Given the description of an element on the screen output the (x, y) to click on. 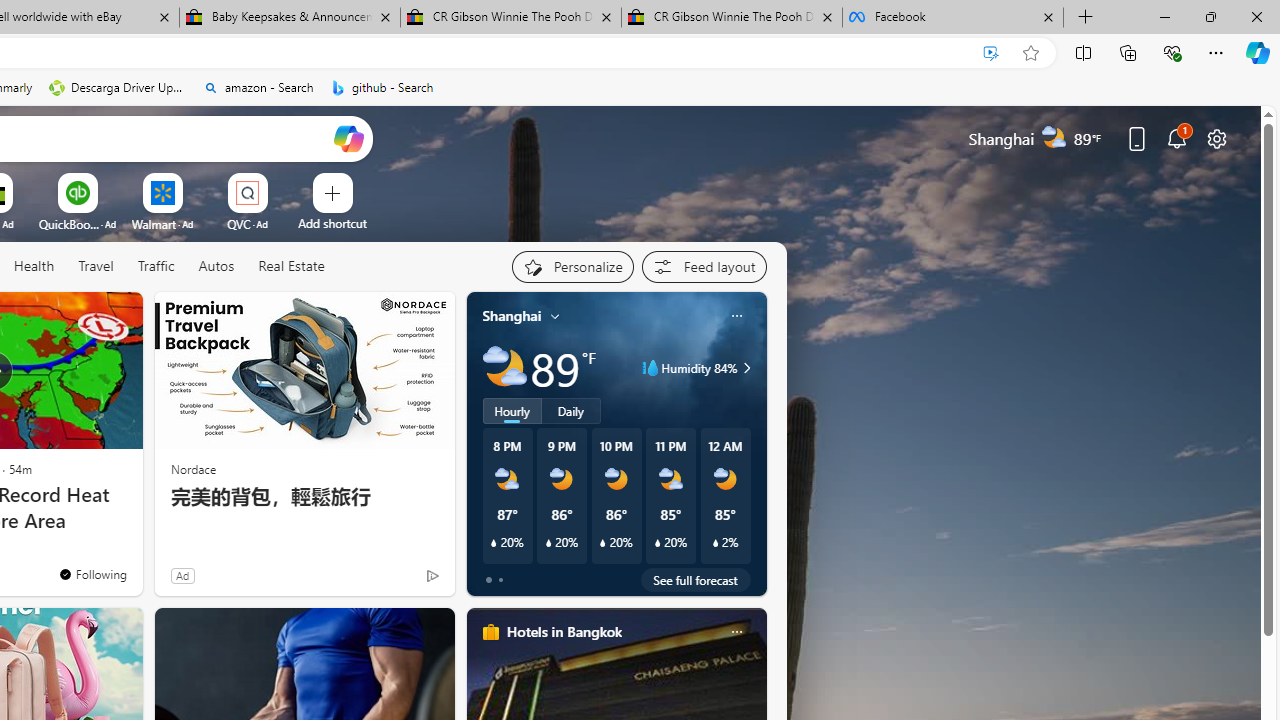
Autos (215, 265)
More Options (279, 179)
amazon - Search (258, 88)
Travel (95, 267)
Ad Choice (432, 575)
Travel (95, 265)
New Tab (1085, 17)
Hourly (511, 411)
Split screen (1083, 52)
Class: weather-current-precipitation-glyph (715, 543)
Autos (216, 267)
Baby Keepsakes & Announcements for sale | eBay (290, 17)
More options (736, 631)
